Given the description of an element on the screen output the (x, y) to click on. 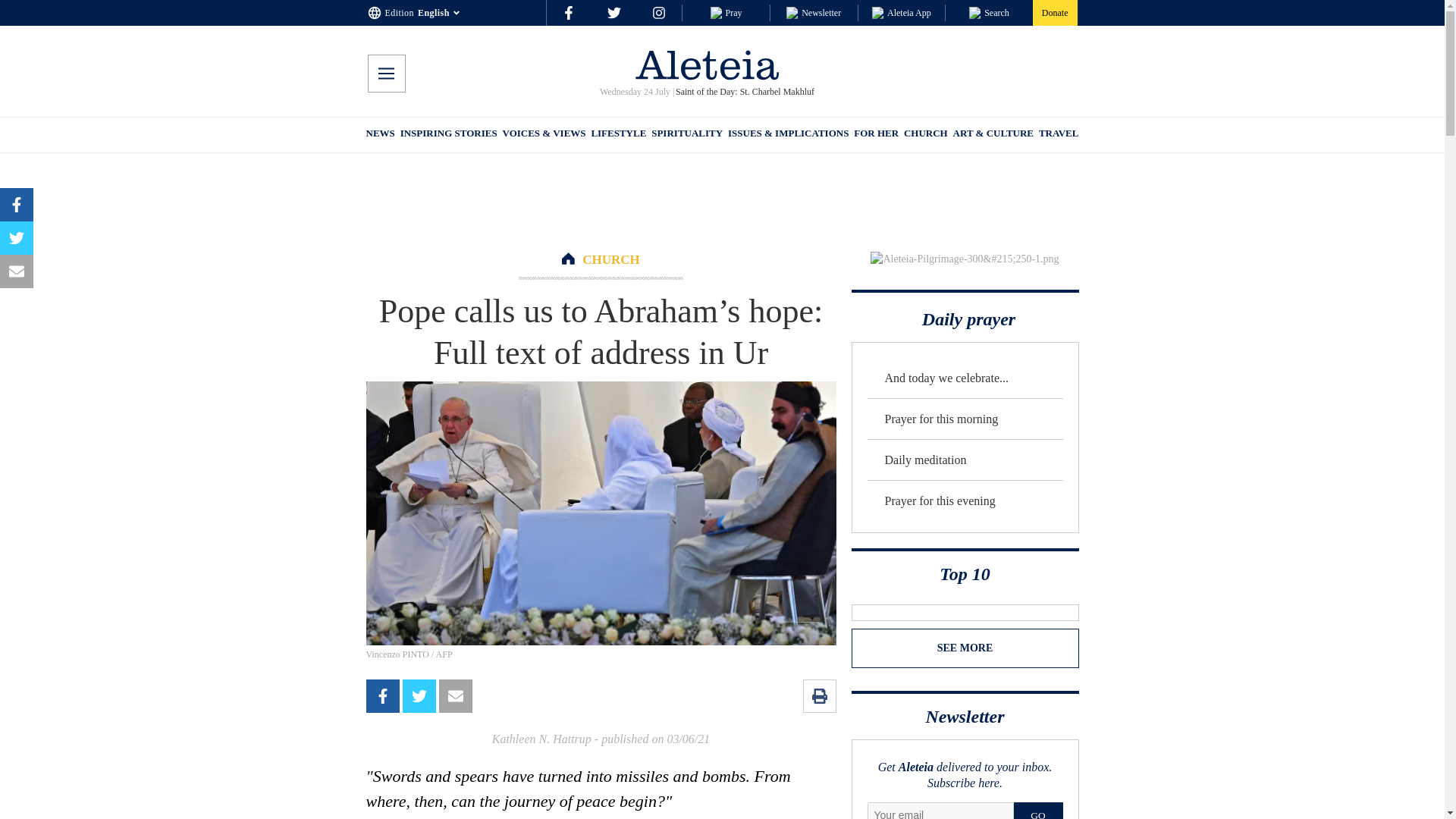
Search (989, 12)
SPIRITUALITY (686, 134)
Pray (725, 12)
Aleteia App (901, 12)
CHURCH (925, 134)
CHURCH (611, 259)
LIFESTYLE (618, 134)
Newsletter (813, 12)
INSPIRING STORIES (448, 134)
TRAVEL (1058, 134)
Saint of the Day: St. Charbel Makhluf (743, 91)
Donate (1054, 12)
FOR HER (875, 134)
NEWS (379, 134)
